Given the description of an element on the screen output the (x, y) to click on. 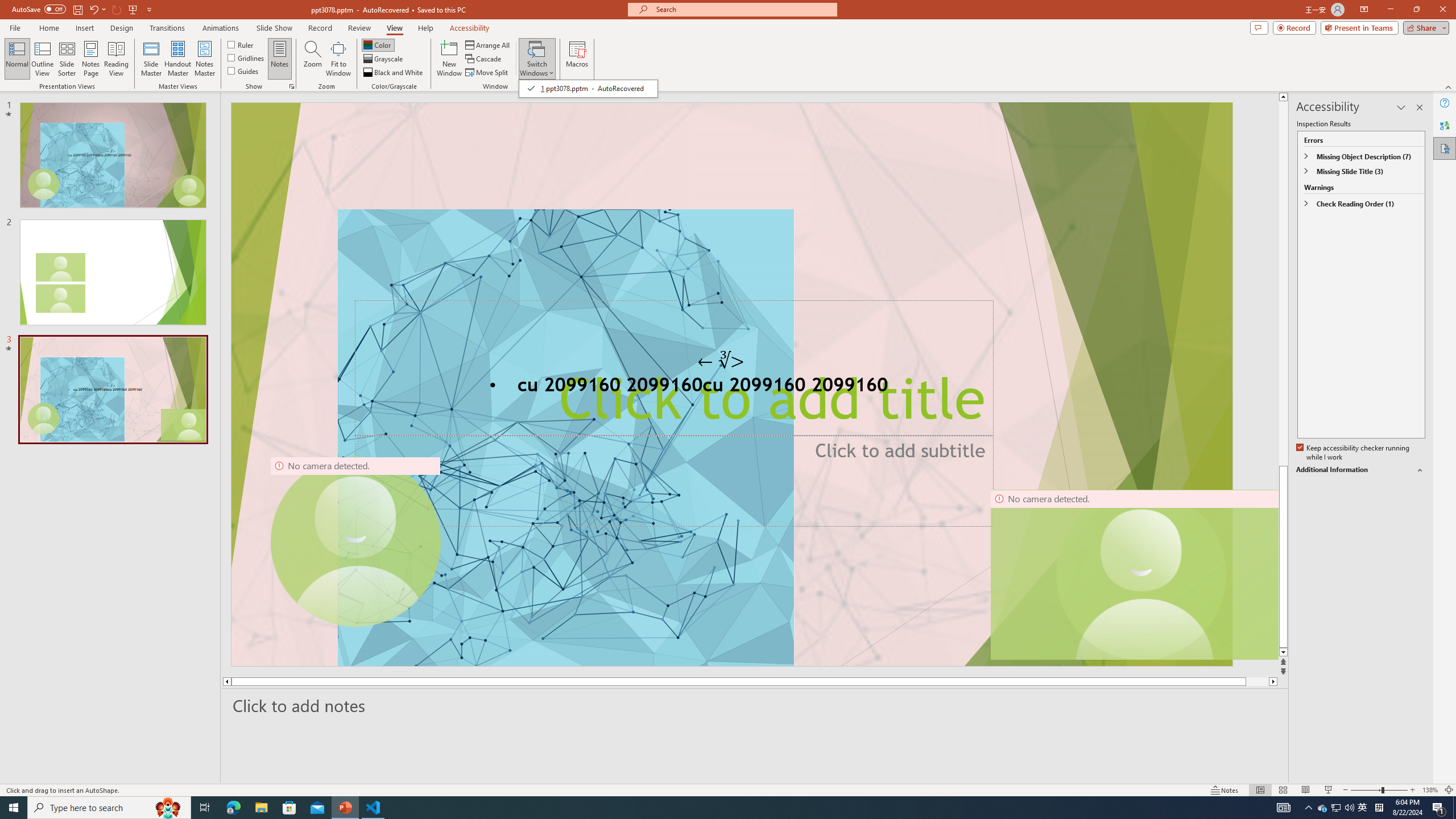
Arrange All (488, 44)
Gridlines (1322, 807)
